Given the description of an element on the screen output the (x, y) to click on. 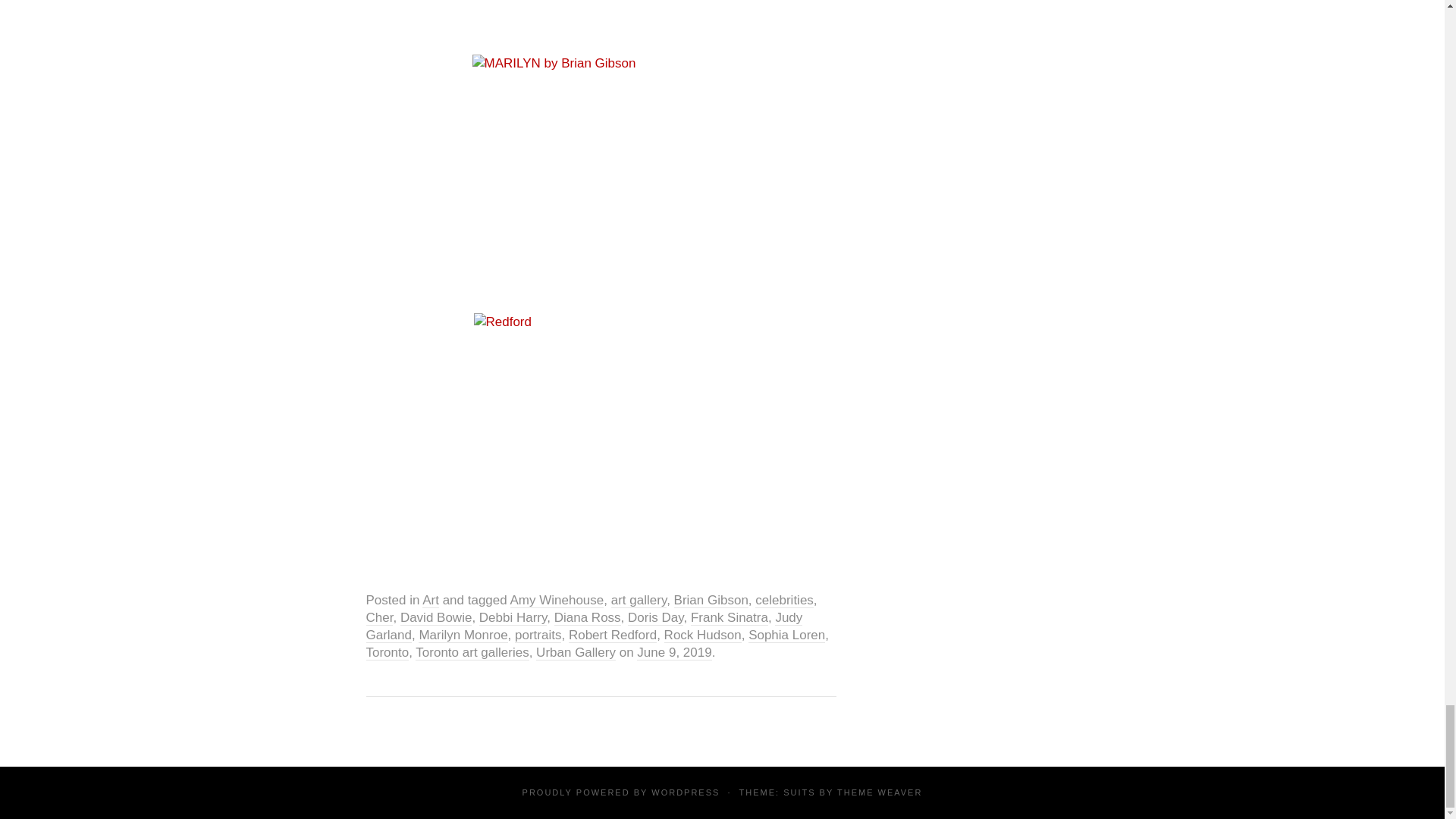
Judy Garland (583, 626)
art gallery (638, 600)
Art (430, 600)
Debbi Harry (513, 617)
5:05 pm (674, 652)
Brian Gibson (711, 600)
celebrities (784, 600)
Theme Developer (879, 791)
Frank Sinatra (729, 617)
Amy Winehouse (556, 600)
Cher (379, 617)
Doris Day (654, 617)
David Bowie (435, 617)
Diana Ross (587, 617)
Semantic Personal Publishing Platform (684, 791)
